Given the description of an element on the screen output the (x, y) to click on. 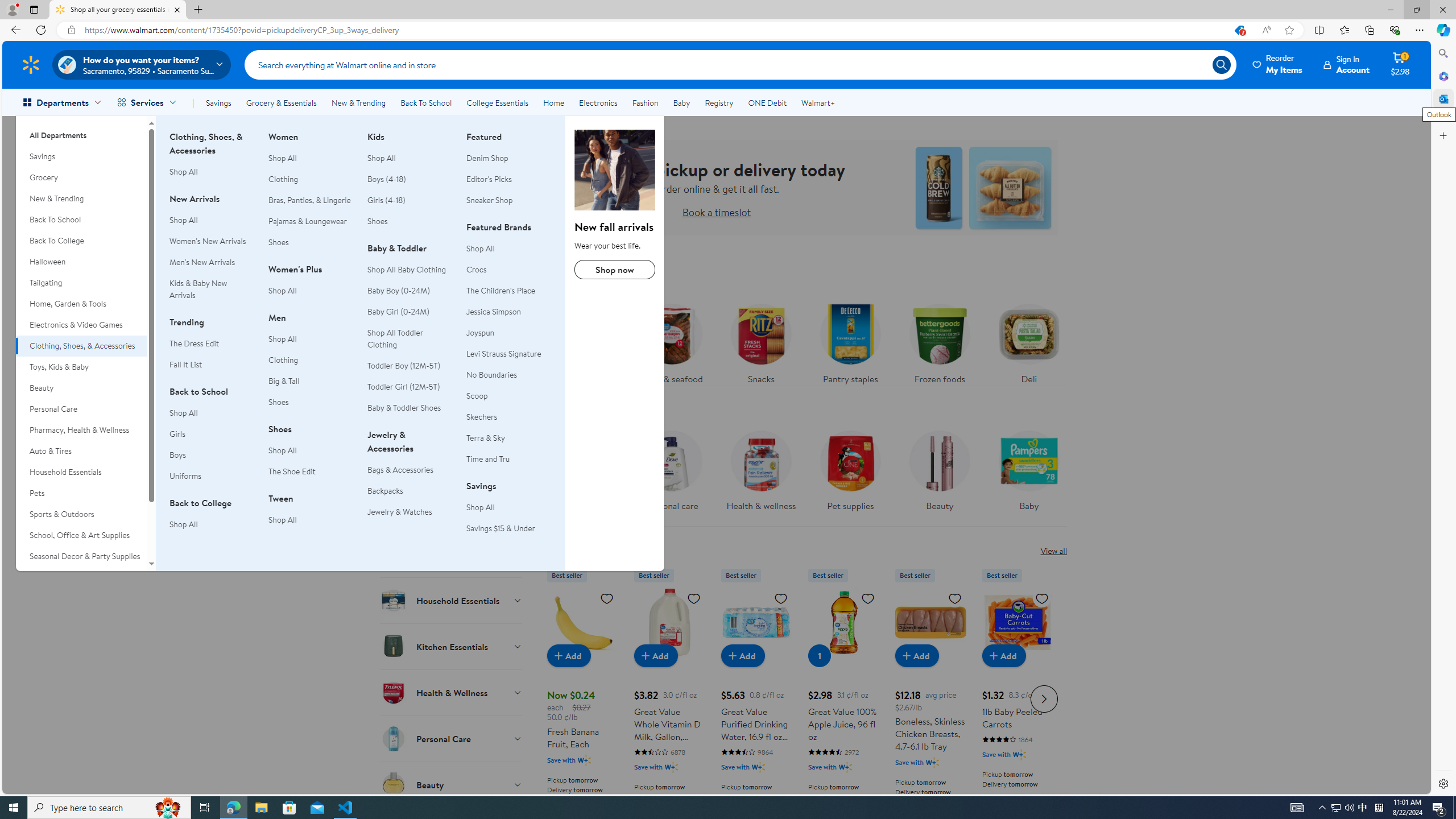
Electronics (598, 102)
Sneaker Shop (488, 199)
Shop All Baby Clothing (409, 269)
Editor's Picks (488, 179)
Levi Strauss Signature (508, 354)
Uniforms (185, 475)
Shop now (615, 269)
Pets (81, 493)
Great Value 100% Apple Juice, 96 fl oz (843, 621)
College Essentials (496, 102)
Grab & Go (451, 554)
Electronics (598, 102)
